Given the description of an element on the screen output the (x, y) to click on. 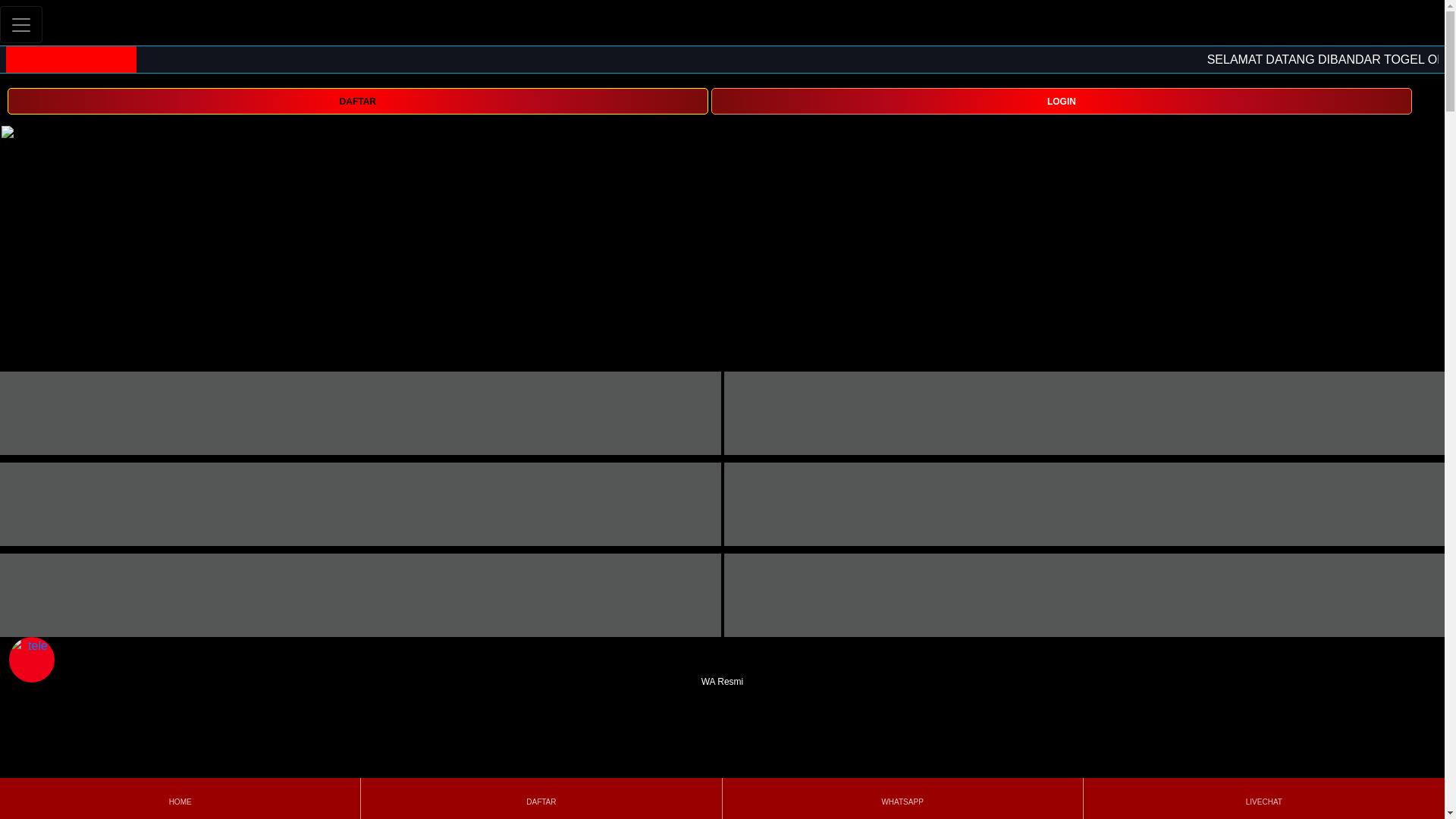
LOGIN (1061, 100)
HOME (179, 798)
DAFTAR (357, 100)
WA Resmi (722, 672)
LIVECHAT (1263, 798)
LOGIN (1061, 100)
DAFTAR (357, 100)
DAFTAR (540, 798)
WHATSAPP (901, 798)
